Given the description of an element on the screen output the (x, y) to click on. 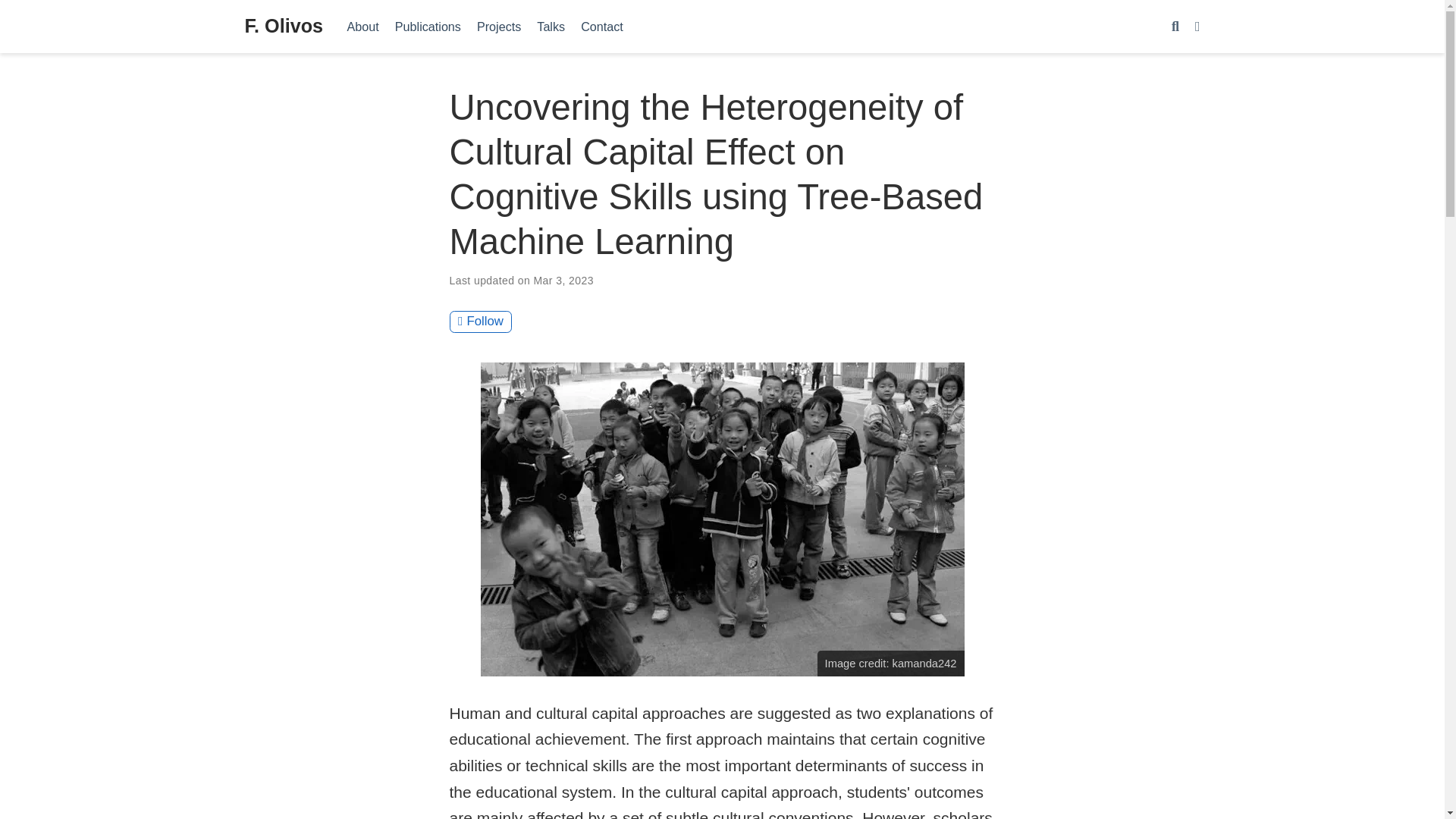
kamanda242 (924, 663)
Publications (427, 25)
Follow (480, 321)
Contact (602, 25)
Projects (498, 25)
About (363, 25)
F. Olivos (283, 26)
Talks (551, 25)
